Given the description of an element on the screen output the (x, y) to click on. 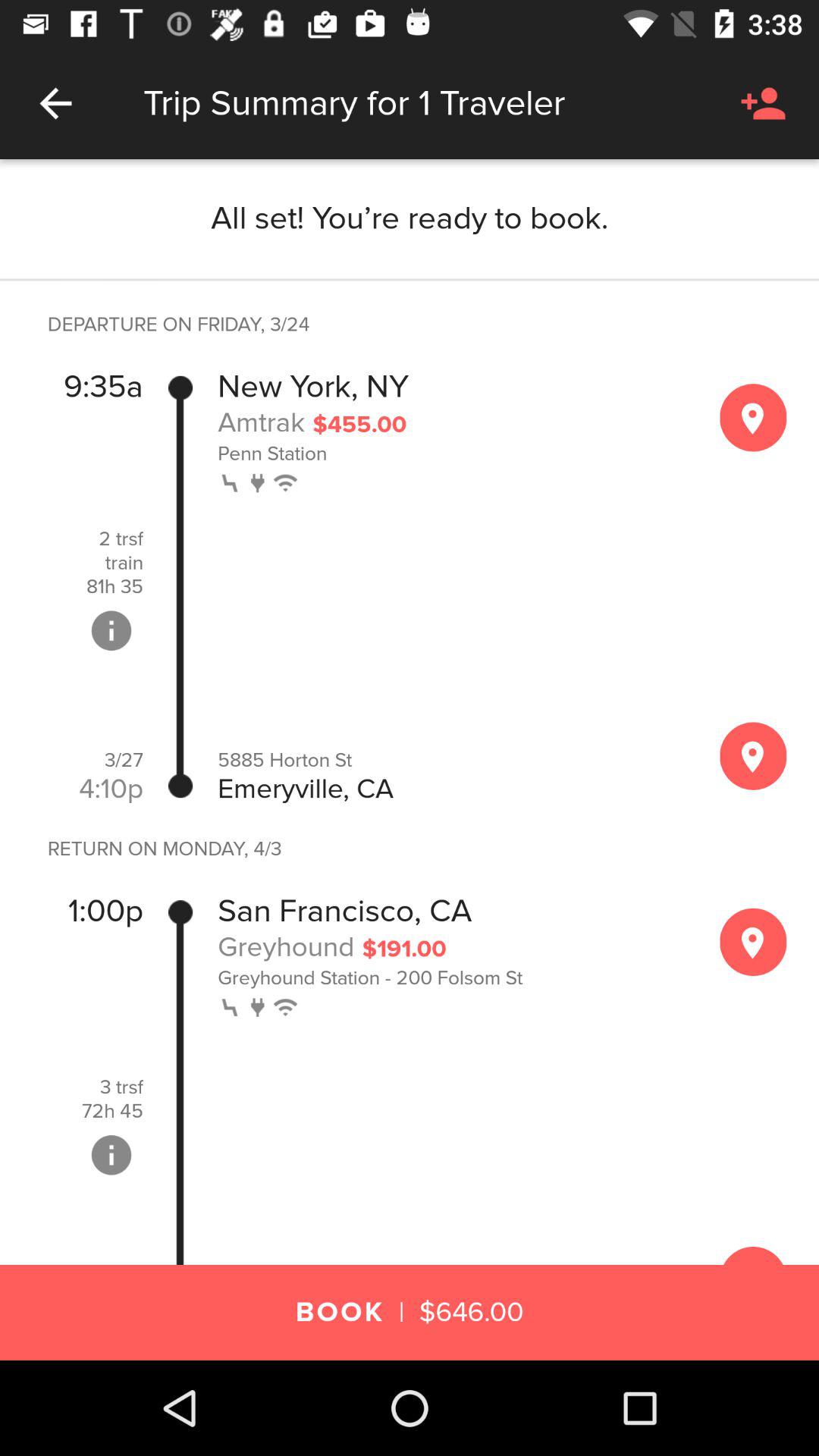
get more information about the trip (111, 1154)
